Given the description of an element on the screen output the (x, y) to click on. 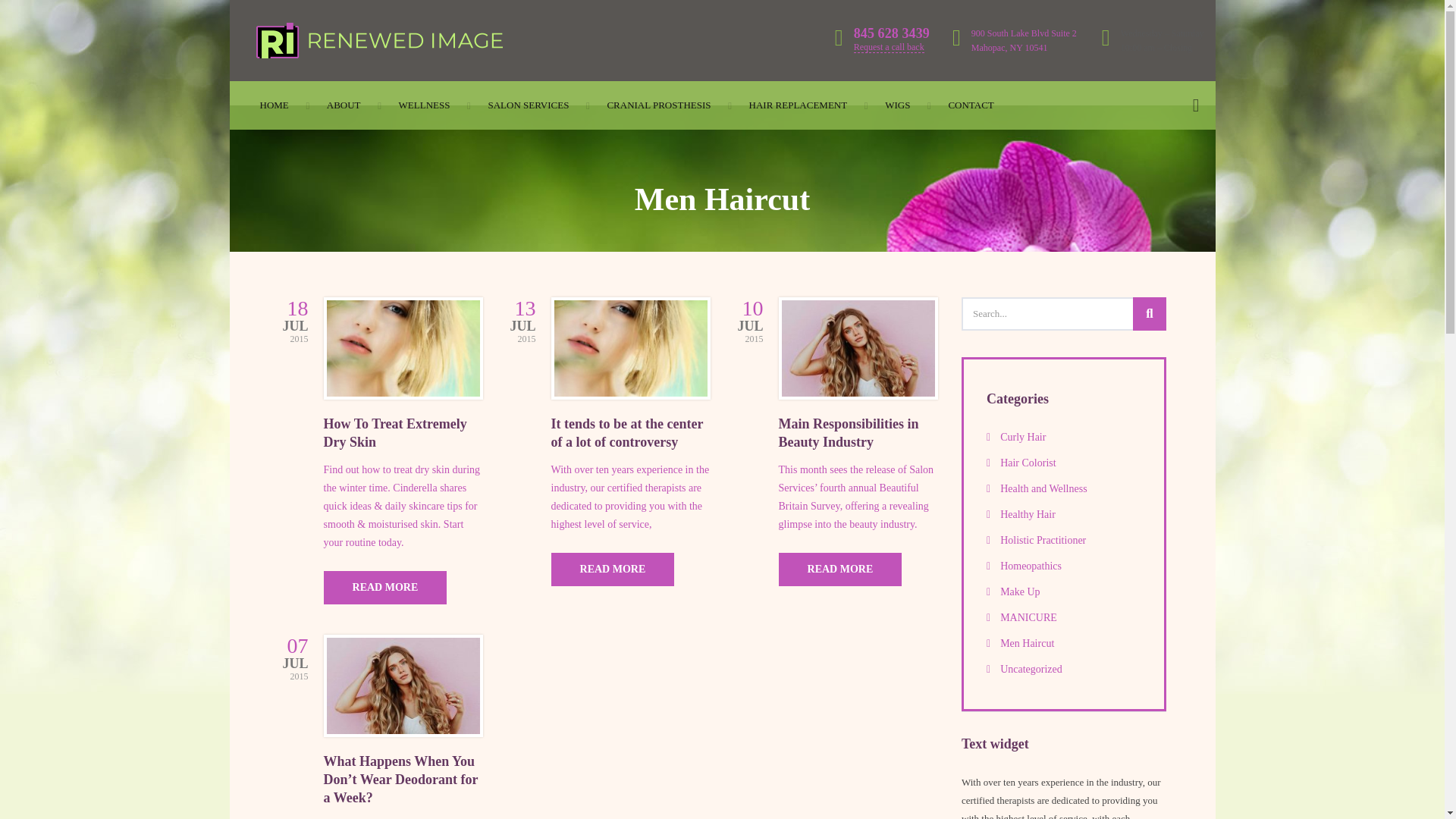
Men Haircut (1062, 643)
CRANIAL PROSTHESIS (658, 105)
1 (403, 685)
ABOUT (343, 105)
CONTACT (969, 105)
Curly Hair (1062, 437)
1 (858, 348)
Uncategorized (1062, 669)
Make Up (1062, 592)
Holistic Practitioner (1062, 540)
Health and Wellness (1062, 488)
HOME (274, 105)
2 (630, 348)
WIGS (897, 105)
MANICURE (1062, 618)
